Given the description of an element on the screen output the (x, y) to click on. 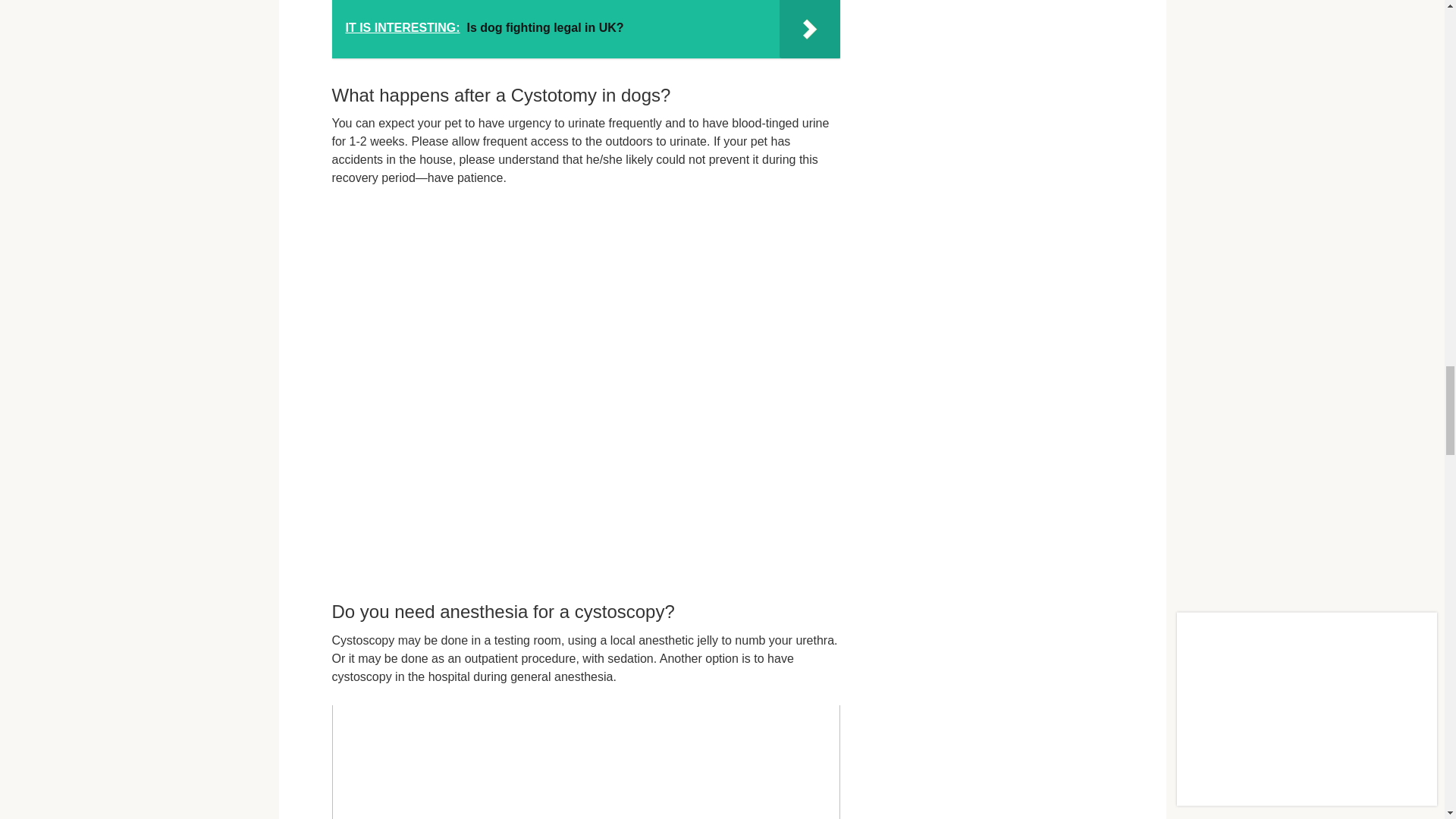
IT IS INTERESTING:  Is dog fighting legal in UK? (585, 29)
